Given the description of an element on the screen output the (x, y) to click on. 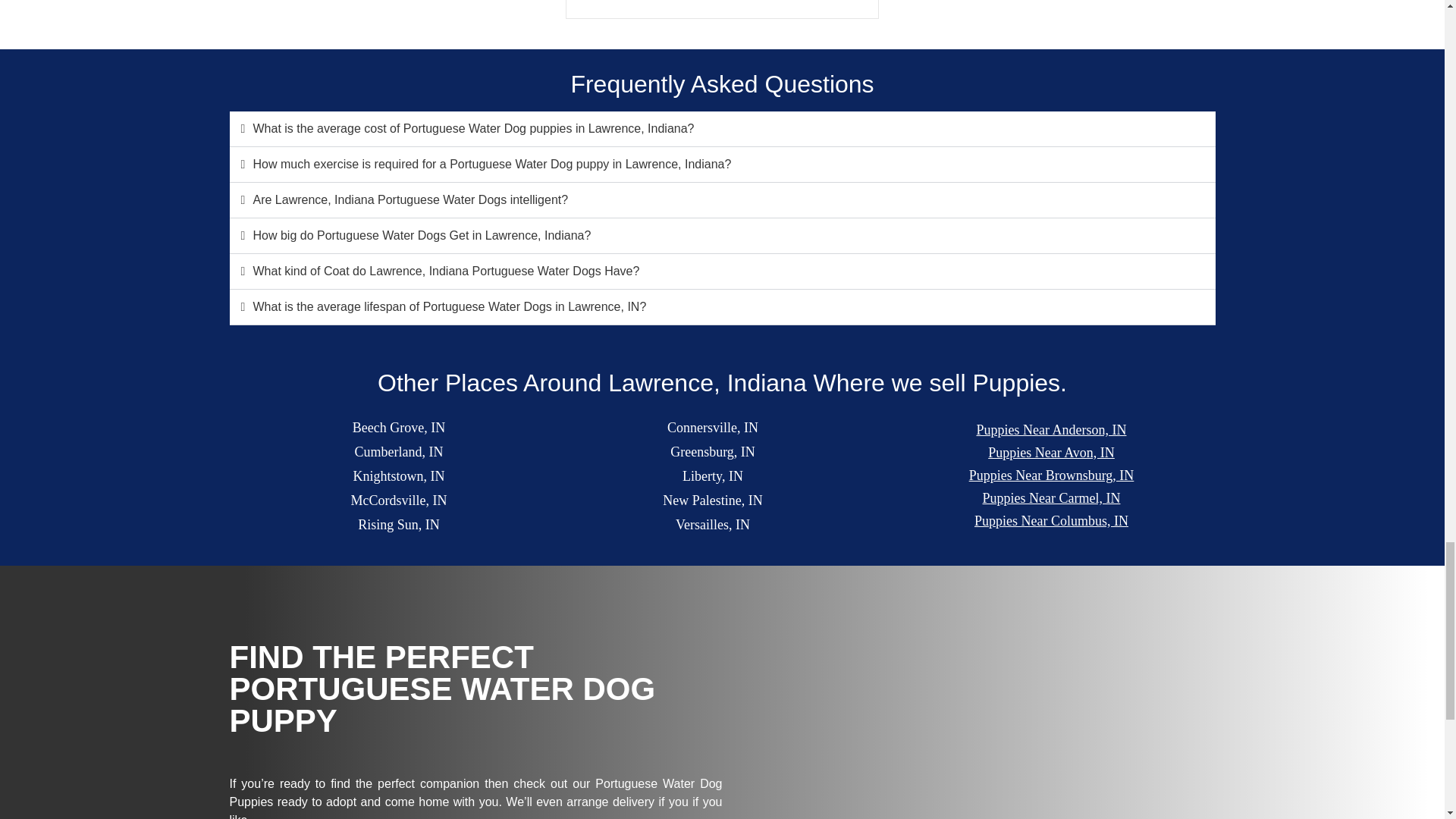
Puppies Near Brownsburg, IN (1050, 476)
Puppies Near Columbus, IN (1050, 521)
Puppies Near Anderson, IN (1050, 430)
Puppies Near Avon, IN (1050, 453)
Puppies Near Carmel, IN (1050, 498)
